Given the description of an element on the screen output the (x, y) to click on. 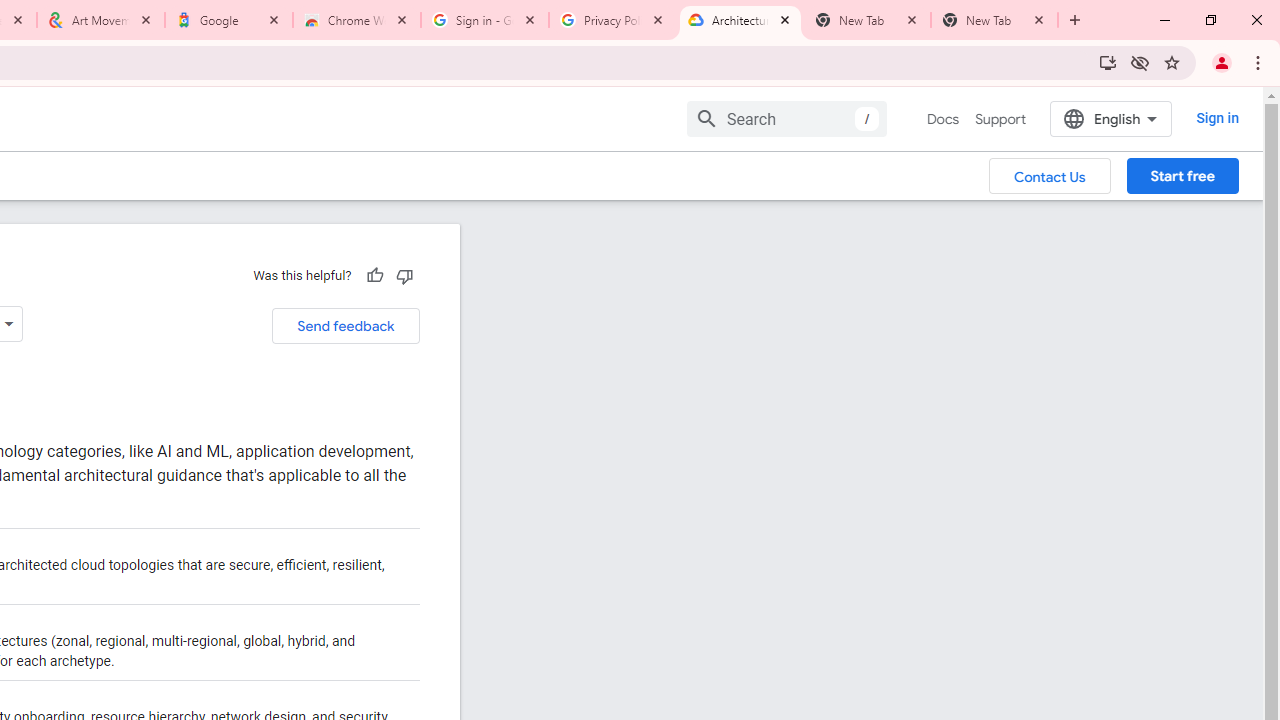
Start free (1182, 175)
Contact Us (1050, 175)
Chrome Web Store - Color themes by Chrome (357, 20)
Docs, selected (942, 119)
Google (229, 20)
Helpful (374, 275)
New Tab (994, 20)
Send feedback (345, 326)
